Given the description of an element on the screen output the (x, y) to click on. 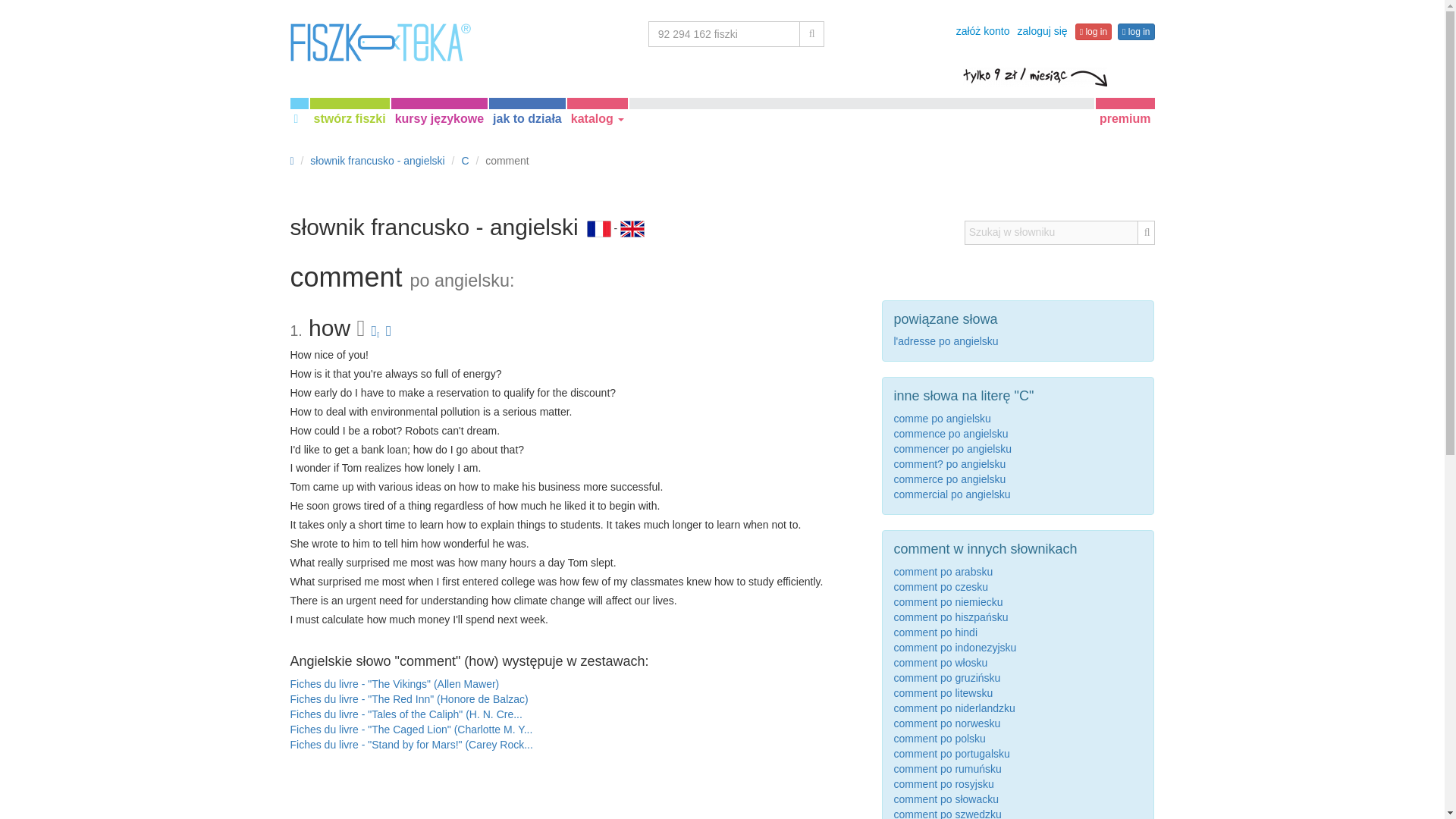
log in (1136, 31)
Fiszkoteka - fiszki to skuteczna nauka (379, 42)
log in (1093, 31)
katalog (597, 117)
